Given the description of an element on the screen output the (x, y) to click on. 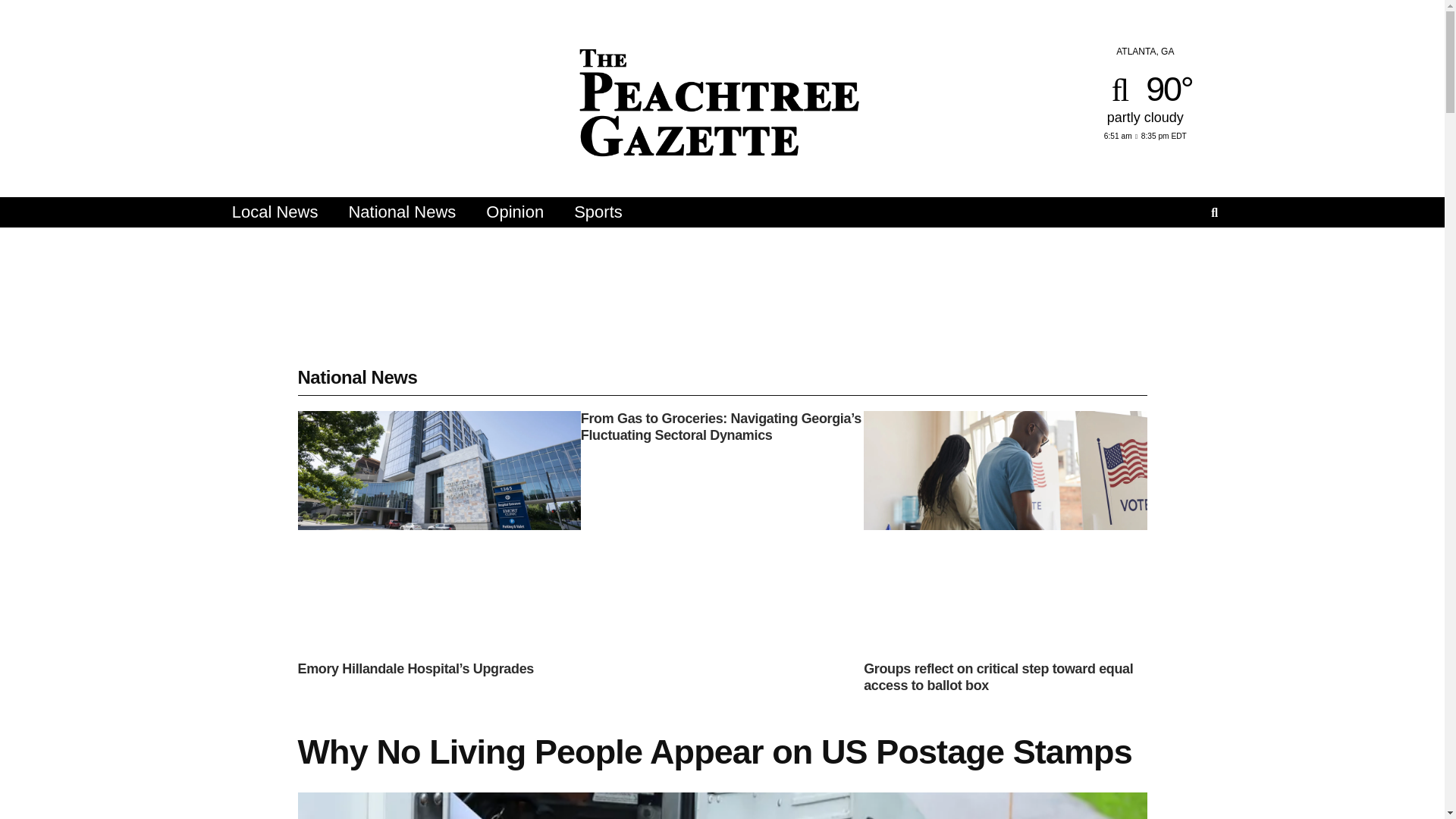
Local News (274, 212)
Opinion (514, 212)
Sports (598, 212)
National News (401, 212)
